Given the description of an element on the screen output the (x, y) to click on. 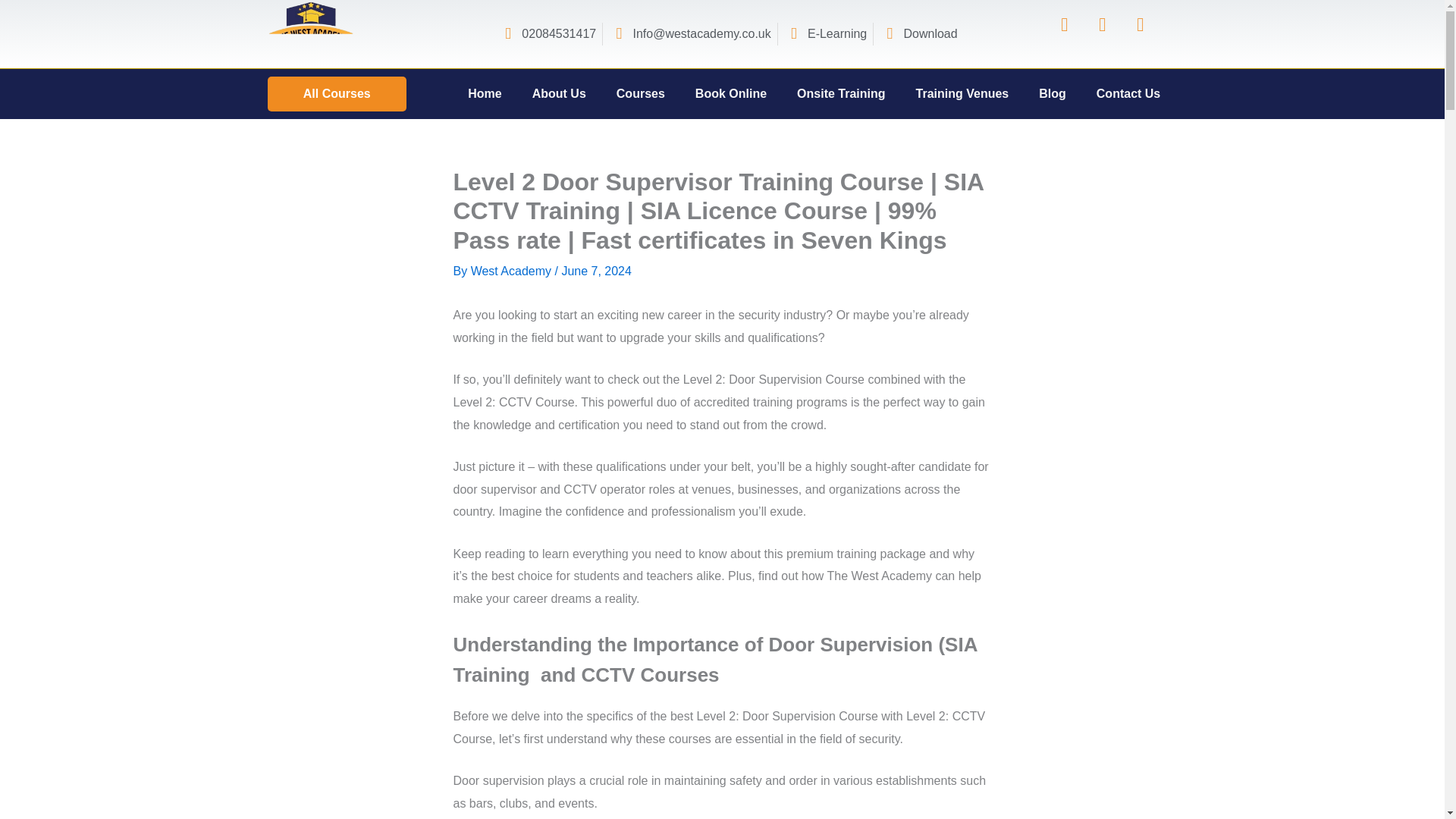
Courses (640, 93)
Download (917, 33)
Home (484, 93)
View all posts by West Academy (512, 270)
All Courses (336, 93)
About Us (558, 93)
